Given the description of an element on the screen output the (x, y) to click on. 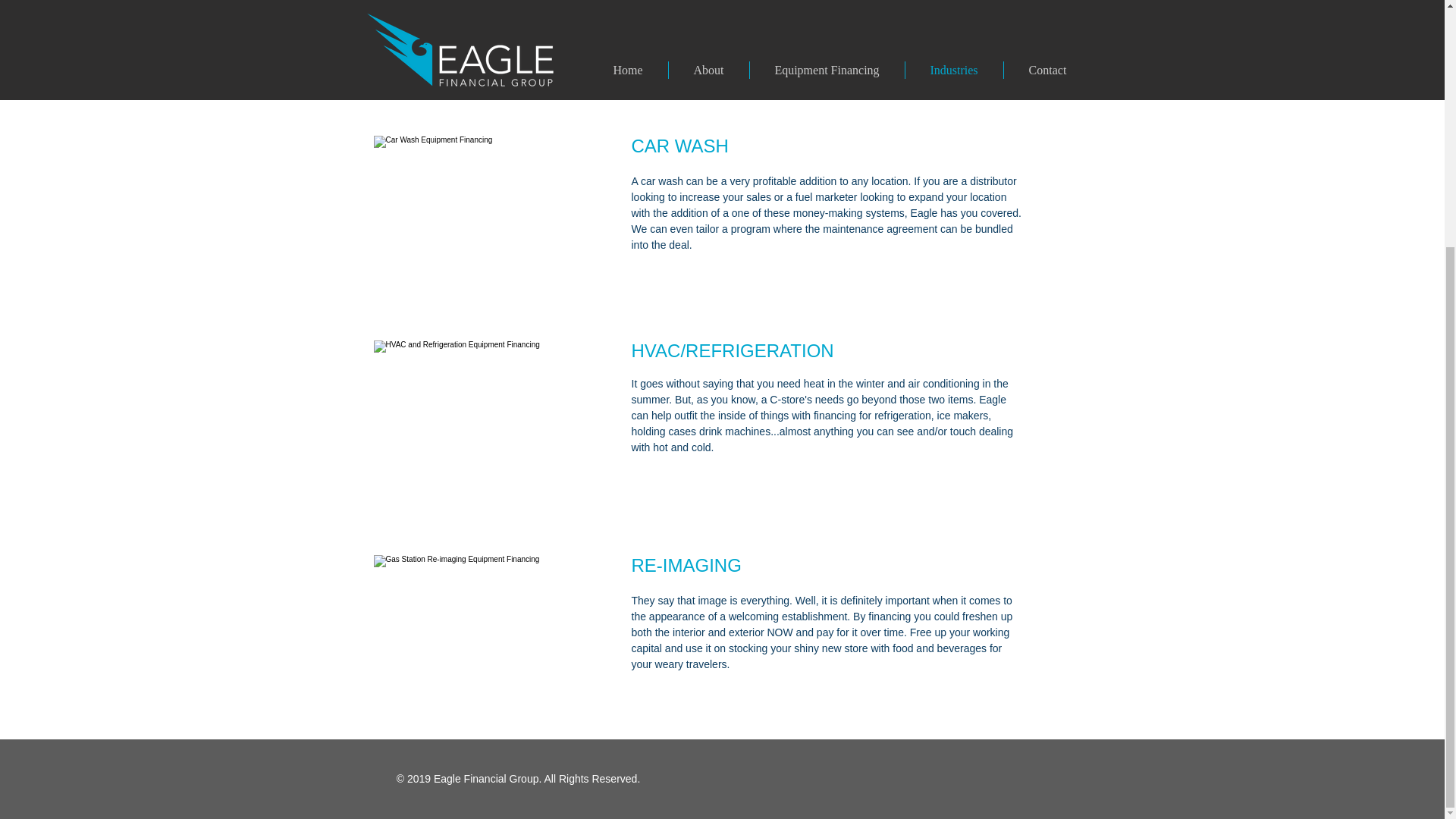
Re-imaging2.jpg (485, 626)
Cooler.jpg (485, 418)
Car Wash2.jpg (485, 206)
Petroleum2.jpg (485, 36)
